Given the description of an element on the screen output the (x, y) to click on. 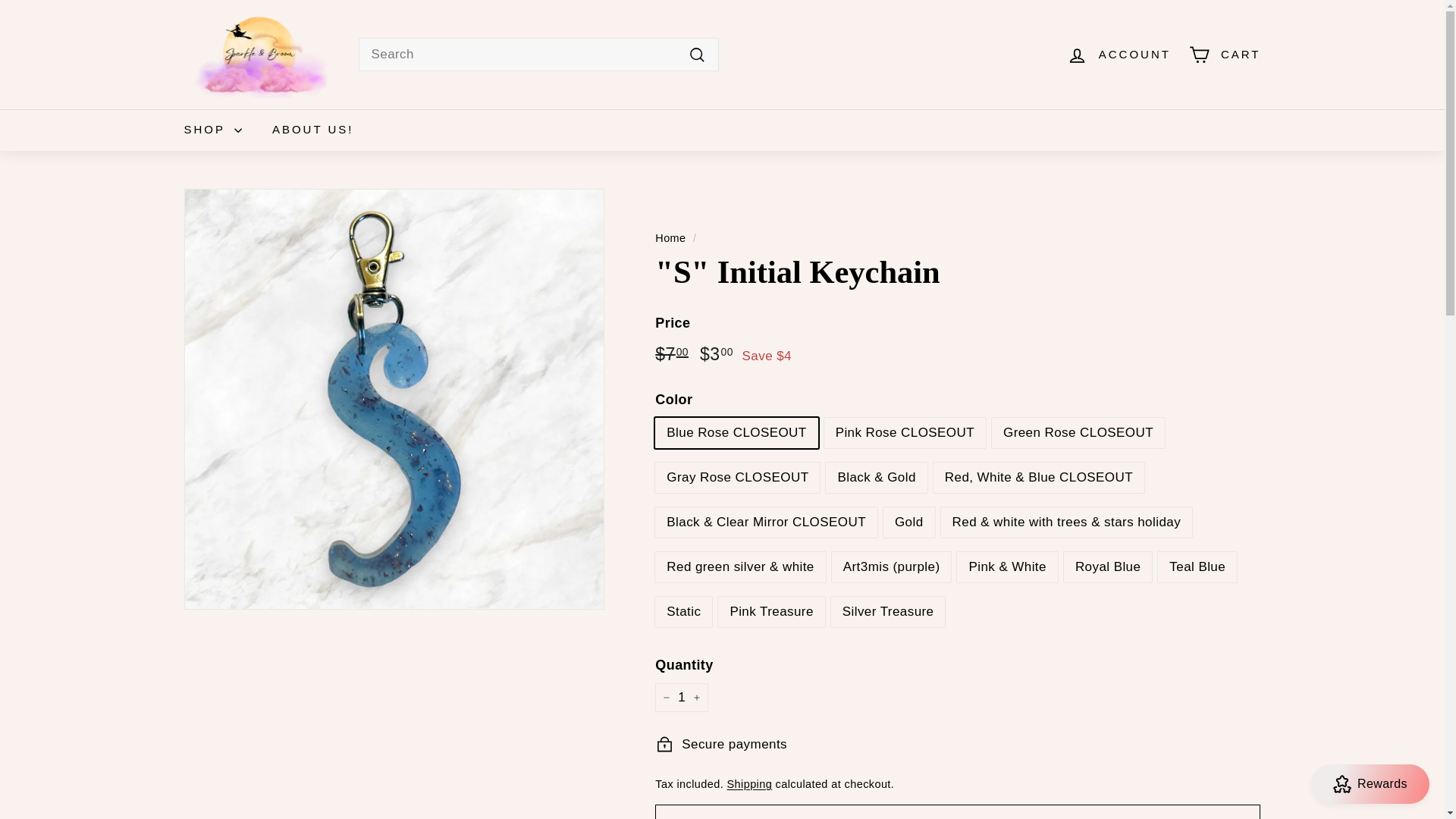
ABOUT US! (313, 129)
CART (1224, 54)
ACCOUNT (1118, 54)
1 (681, 697)
